Given the description of an element on the screen output the (x, y) to click on. 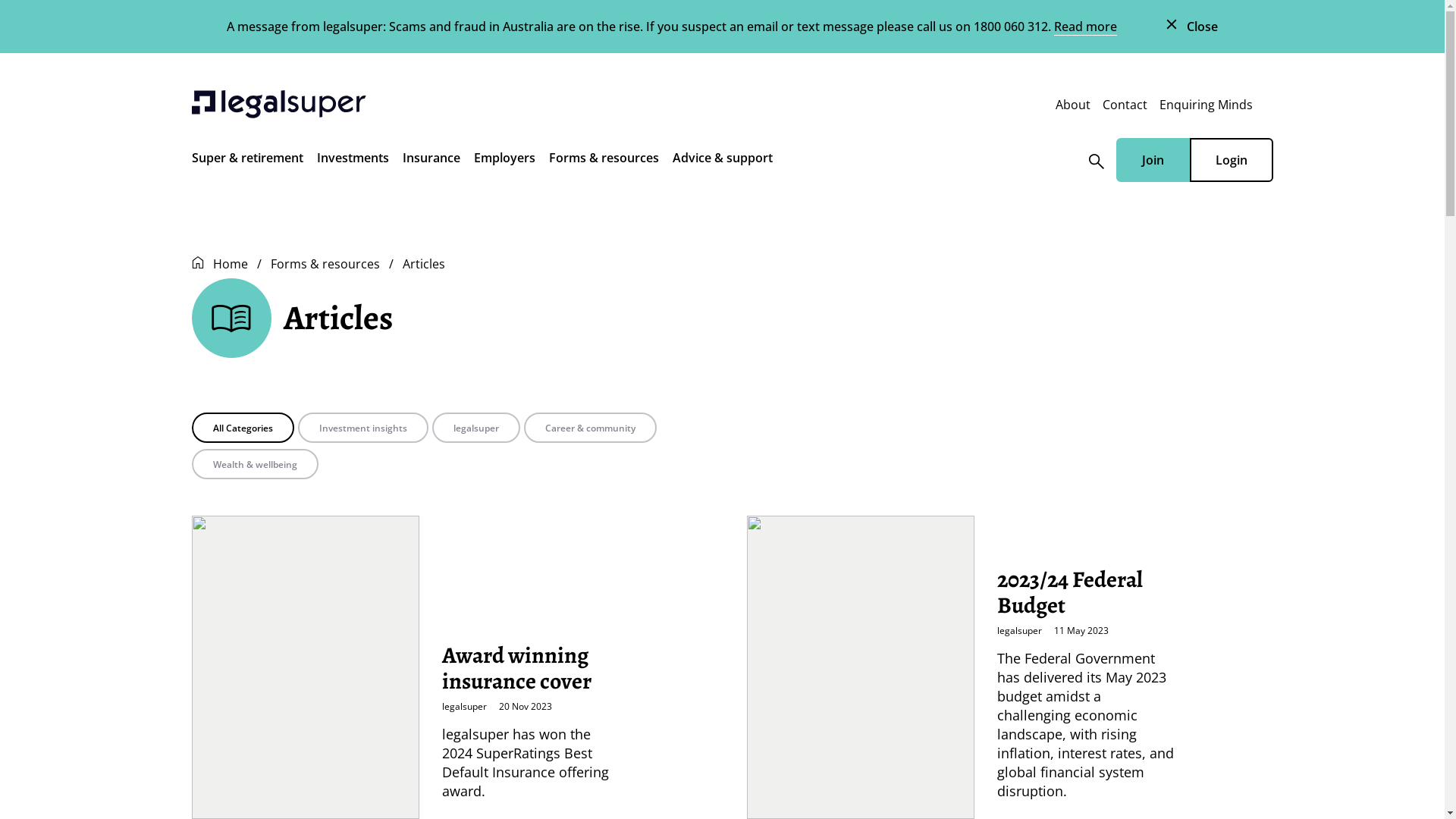
Login Element type: text (1231, 160)
Forms & resources Element type: text (324, 263)
Insurance Element type: text (430, 160)
About Element type: text (1072, 103)
Investment insights Element type: text (362, 427)
Read more Element type: text (1085, 26)
Wealth & wellbeing Element type: text (254, 463)
legalsuper Element type: text (476, 427)
Career & community Element type: text (589, 427)
Join Element type: text (1152, 160)
Investments Element type: text (352, 160)
Super & retirement Element type: text (246, 160)
Contact Element type: text (1124, 103)
Employers Element type: text (503, 160)
Home Element type: text (229, 263)
Enquiring Minds Element type: text (1205, 103)
Forms & resources Element type: text (603, 160)
Advice & support Element type: text (721, 160)
All Categories Element type: text (242, 427)
